Given the description of an element on the screen output the (x, y) to click on. 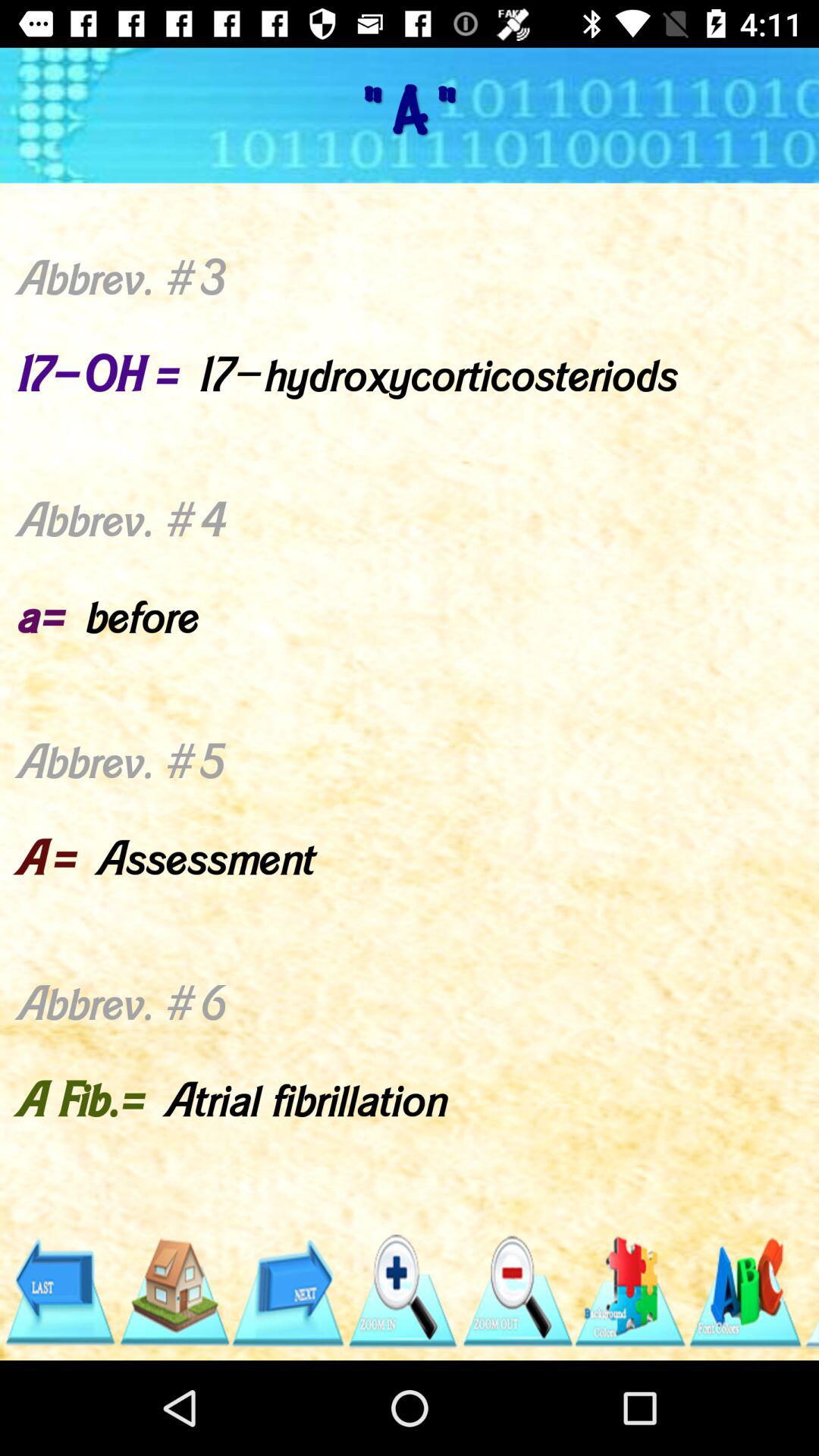
add new piece (630, 1291)
